Given the description of an element on the screen output the (x, y) to click on. 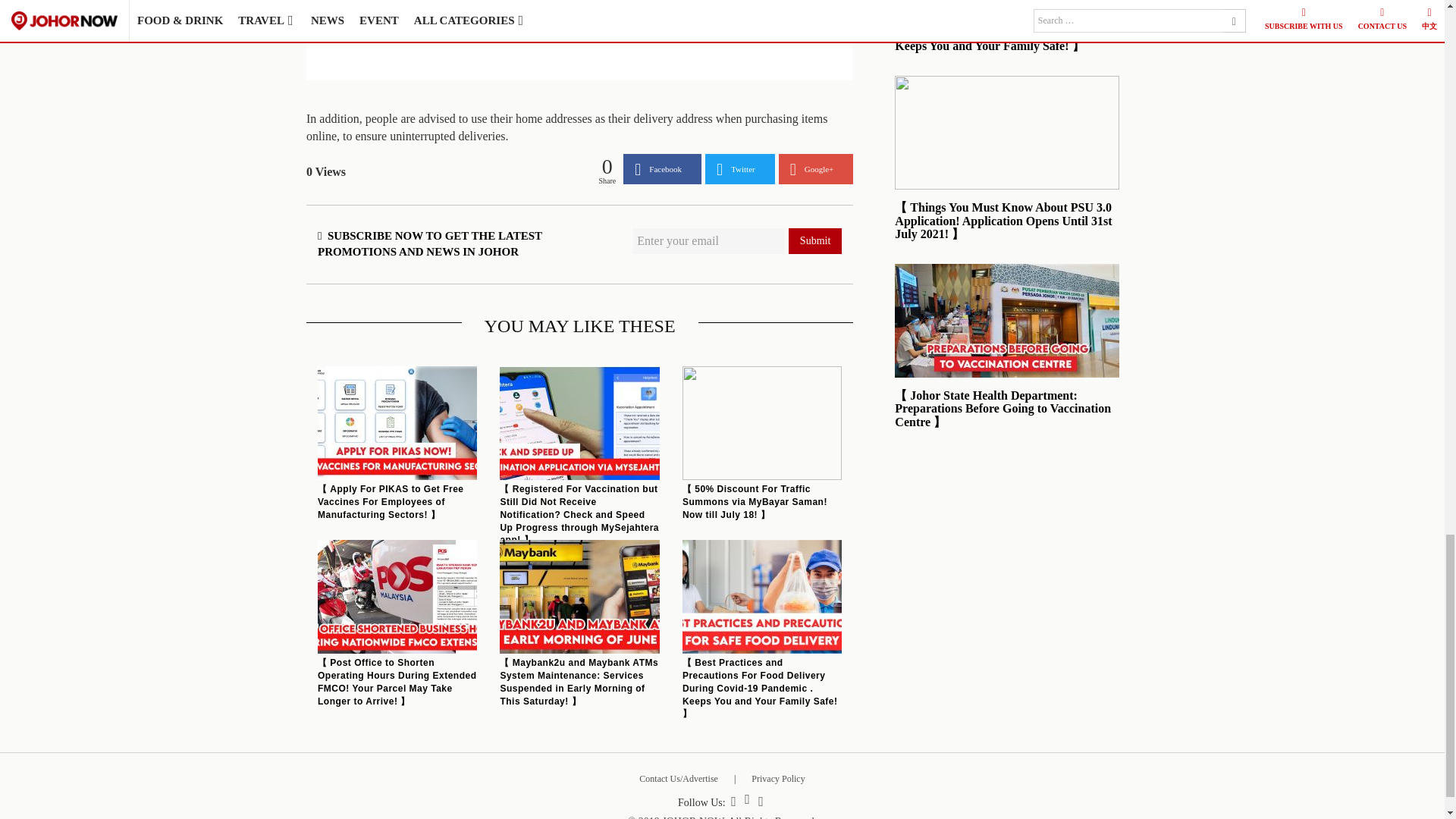
Submit (815, 240)
